Given the description of an element on the screen output the (x, y) to click on. 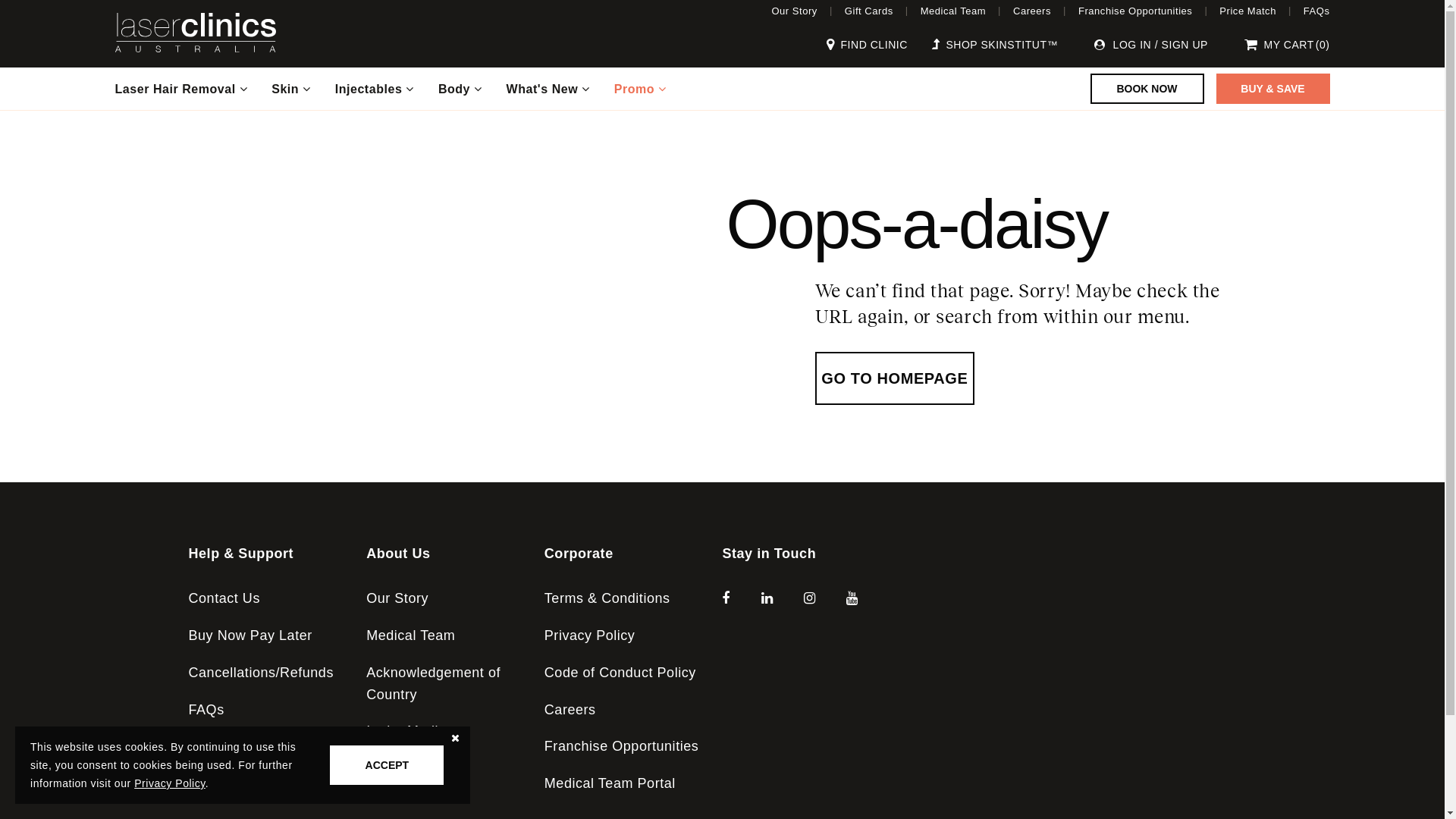
Privacy Policy Element type: text (589, 635)
Medical Team Portal Element type: text (609, 783)
FAQs Element type: text (205, 709)
Medical Team Element type: text (952, 10)
Contact Us Element type: text (223, 597)
Careers Element type: text (1032, 10)
Injectables Element type: text (374, 88)
Body Element type: text (460, 88)
Promo Element type: text (640, 88)
Our Story Element type: text (794, 10)
Gift Cards Element type: text (868, 10)
Privacy Policy Element type: text (169, 783)
Laser Hair Removal Element type: text (181, 88)
Cancellations/Refunds Element type: text (260, 672)
BOOK NOW Element type: text (1147, 88)
Franchise Opportunities Element type: text (1135, 10)
Code of Conduct Policy Element type: text (620, 672)
Franchise Opportunities Element type: text (621, 745)
Price Match Element type: text (1247, 10)
  Element type: text (784, 641)
LOG IN / SIGN UP Element type: text (1151, 44)
What's New Element type: text (548, 88)
Careers Element type: text (570, 709)
GO TO HOMEPAGE Element type: text (894, 377)
Terms & Conditions Element type: text (607, 597)
FAQs Element type: text (1316, 10)
BUY & SAVE Element type: text (1273, 88)
Acknowledgement of Country Element type: text (433, 683)
In the Media Element type: text (406, 730)
Blog Element type: text (380, 767)
Buy Now Pay Later Element type: text (249, 635)
Clinic Feedback Element type: text (239, 745)
FIND CLINIC Element type: text (866, 44)
ACCEPT Element type: text (386, 764)
Our Story Element type: text (397, 597)
Skin Element type: text (291, 88)
Medical Team Element type: text (410, 635)
